Given the description of an element on the screen output the (x, y) to click on. 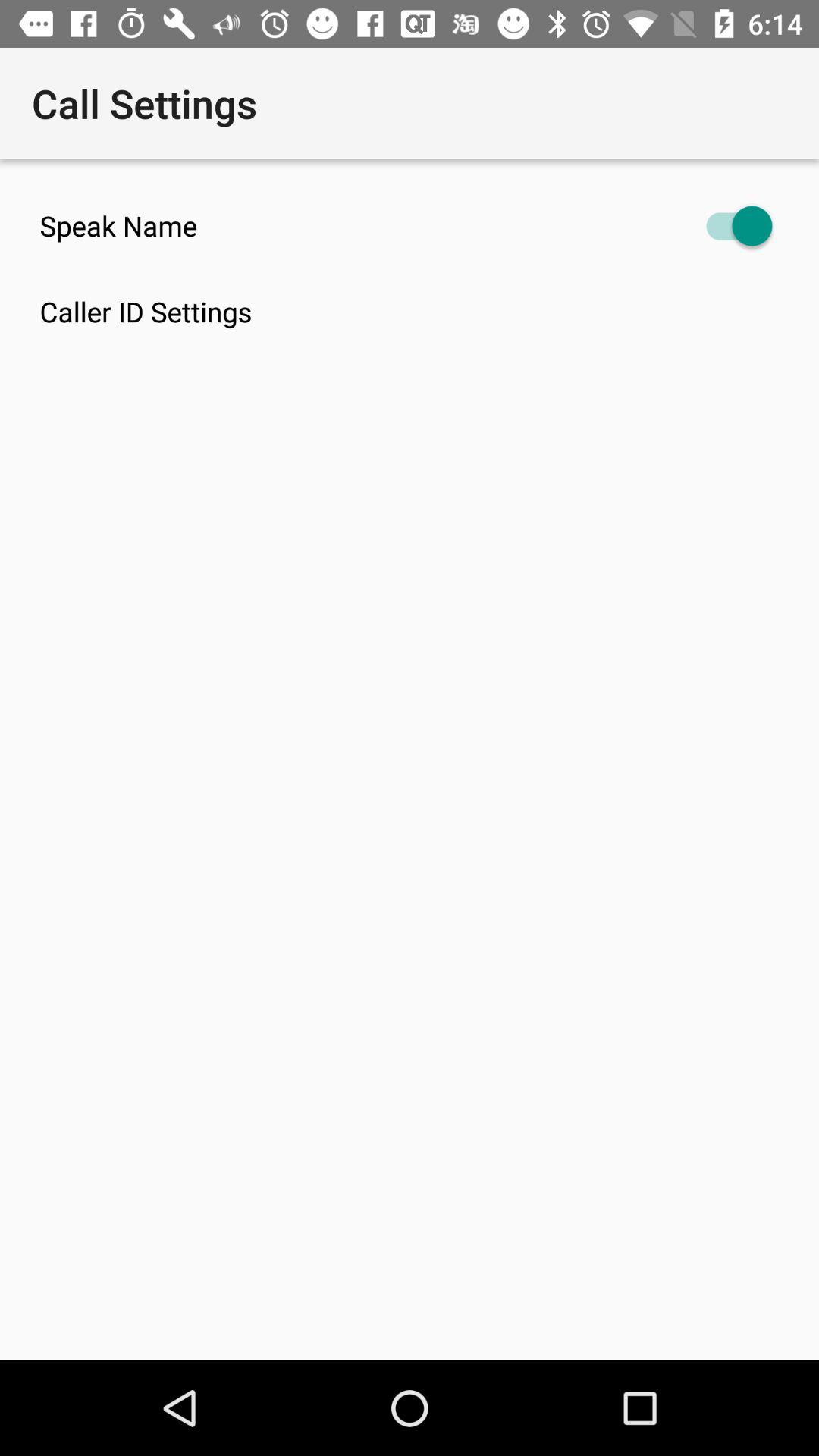
flip to speak name (409, 226)
